Given the description of an element on the screen output the (x, y) to click on. 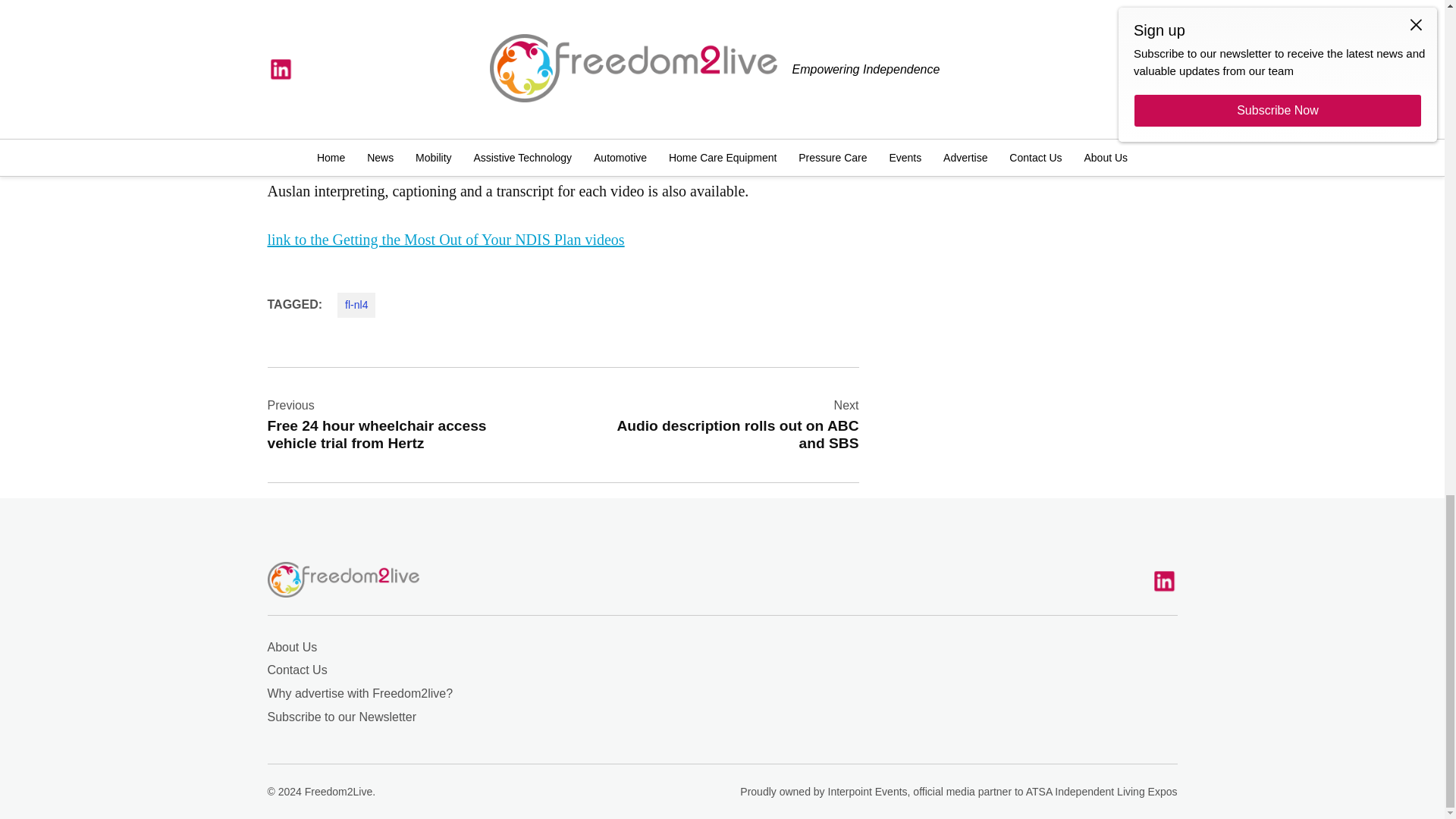
fl-nl4 (725, 424)
3rd party ad content (356, 304)
link to the Getting the Most Out of Your NDIS Plan videos (1040, 22)
